Given the description of an element on the screen output the (x, y) to click on. 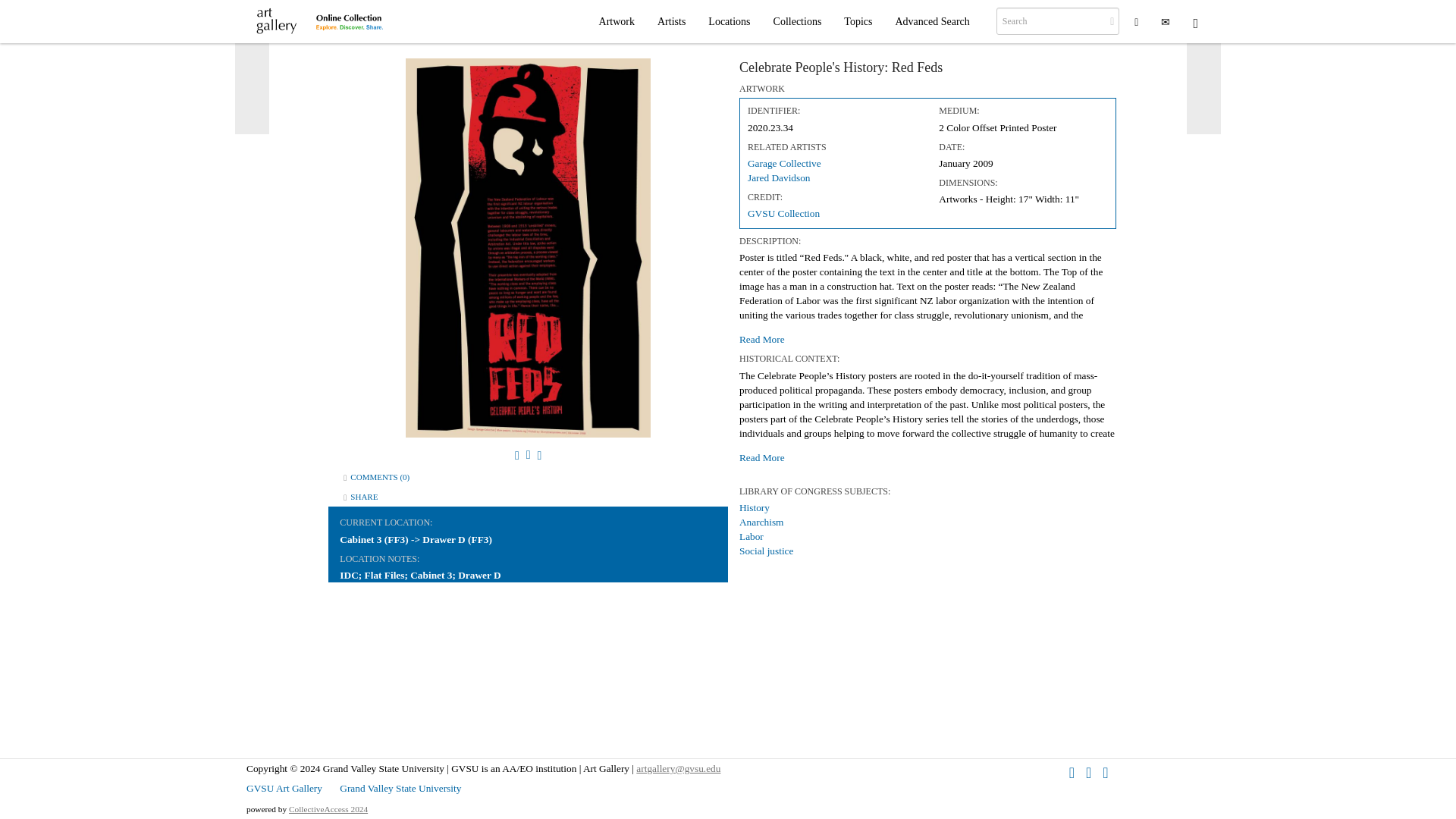
Read More (927, 335)
SHARE (363, 496)
Open Media View (516, 454)
Artwork (617, 21)
Social justice (766, 550)
History (754, 507)
Collections (796, 21)
Artists (671, 21)
Login to add to lightbox (528, 454)
For more information (1136, 21)
GVSU Collection (783, 213)
Garage Collective (784, 163)
Topics (857, 21)
Labor (750, 536)
Anarchism (761, 521)
